Given the description of an element on the screen output the (x, y) to click on. 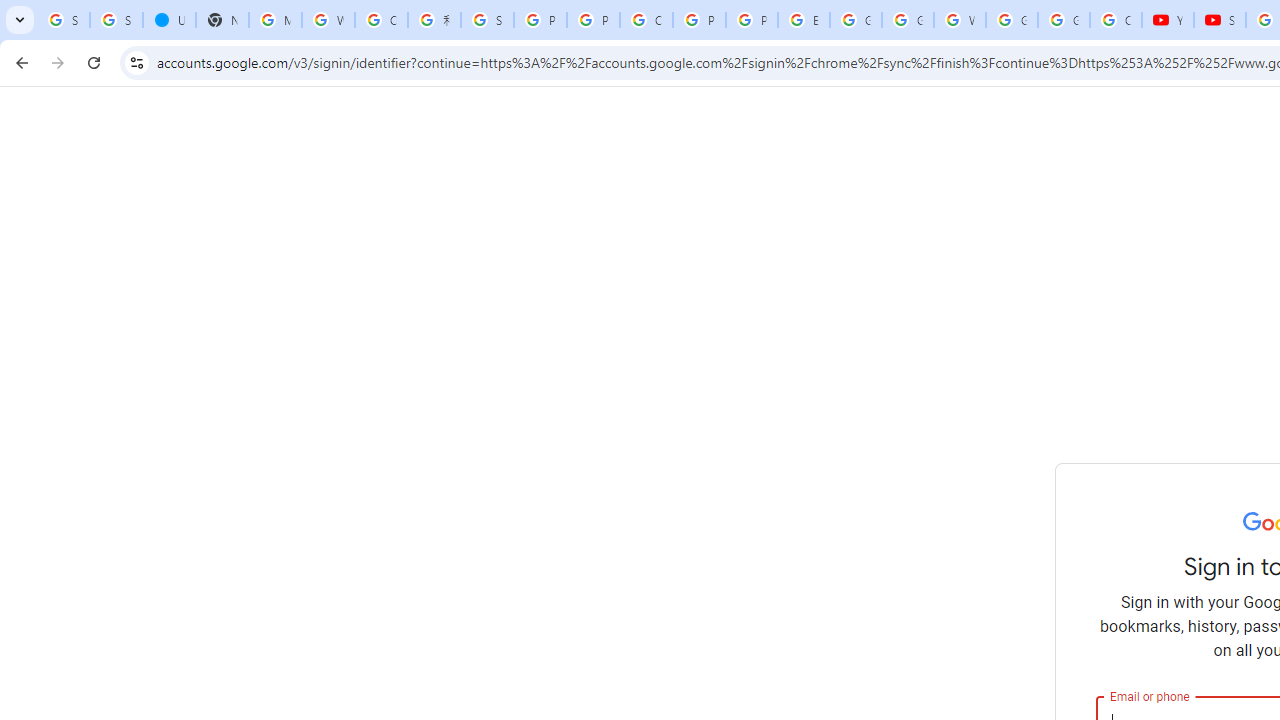
Who is my administrator? - Google Account Help (328, 20)
Google Account (1064, 20)
USA TODAY (169, 20)
Create your Google Account (646, 20)
Welcome to My Activity (959, 20)
Google Slides: Sign-in (855, 20)
